Given the description of an element on the screen output the (x, y) to click on. 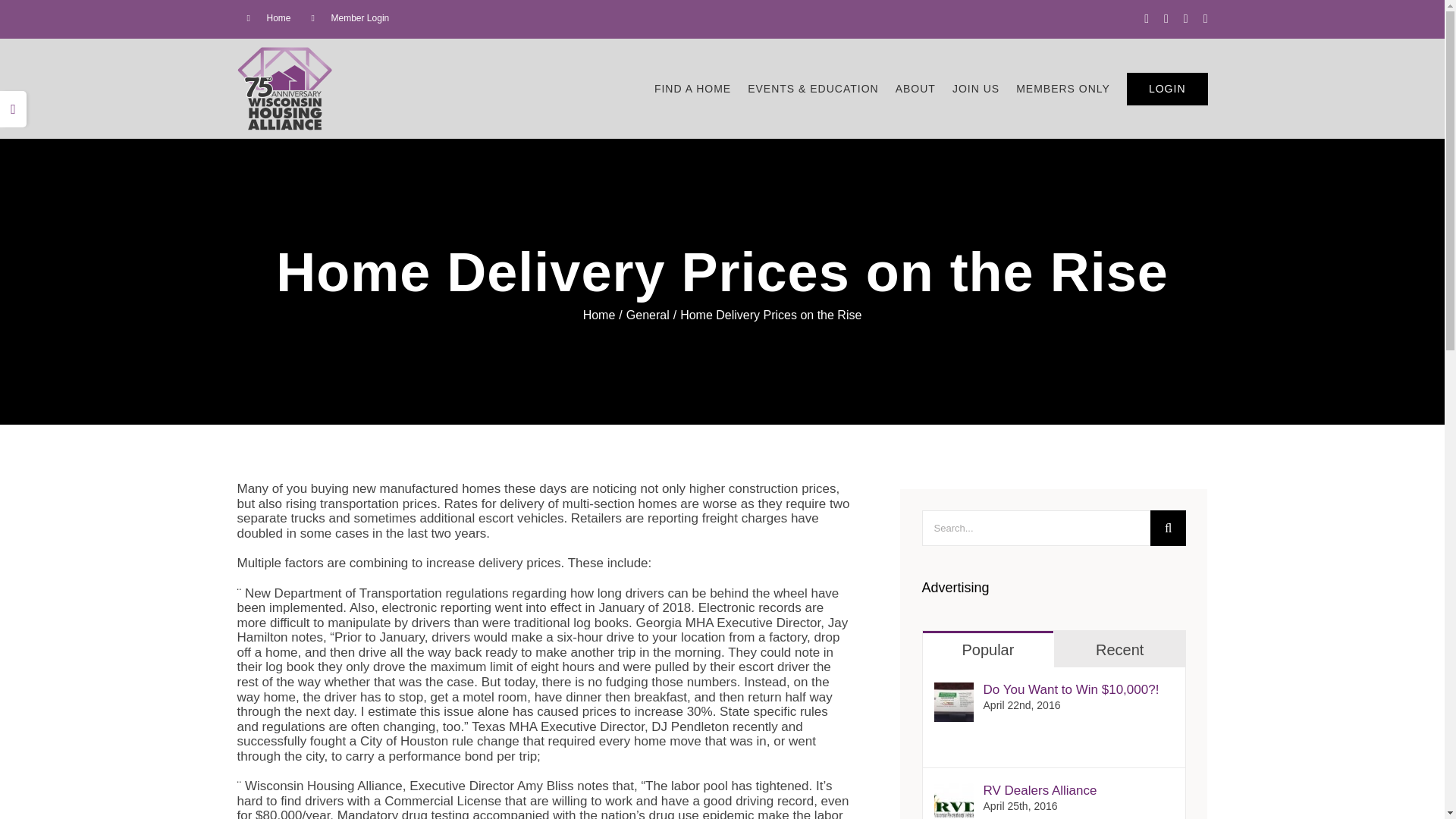
General (647, 314)
MEMBERS ONLY (1062, 88)
Member Login (349, 18)
Home (599, 314)
LOGIN (1163, 88)
Member Login (349, 18)
Home (267, 18)
FIND A HOME (692, 88)
